Given the description of an element on the screen output the (x, y) to click on. 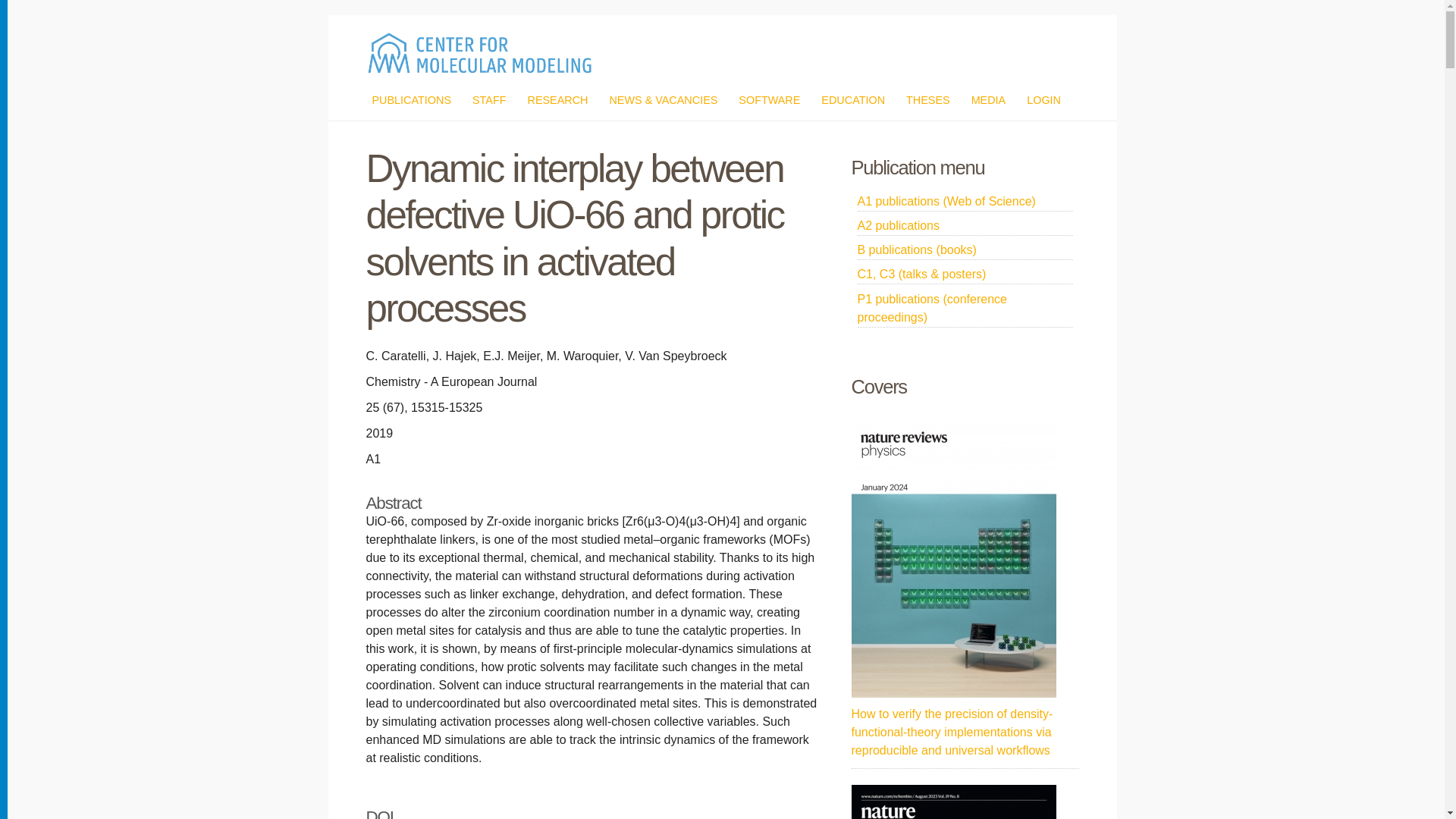
PUBLICATIONS (411, 100)
EDUCATION (853, 100)
MEDIA (988, 100)
A2 publications (964, 226)
Skip to main content (685, 16)
STAFF (488, 100)
SOFTWARE (768, 100)
RESEARCH (557, 100)
THESES (927, 100)
